Given the description of an element on the screen output the (x, y) to click on. 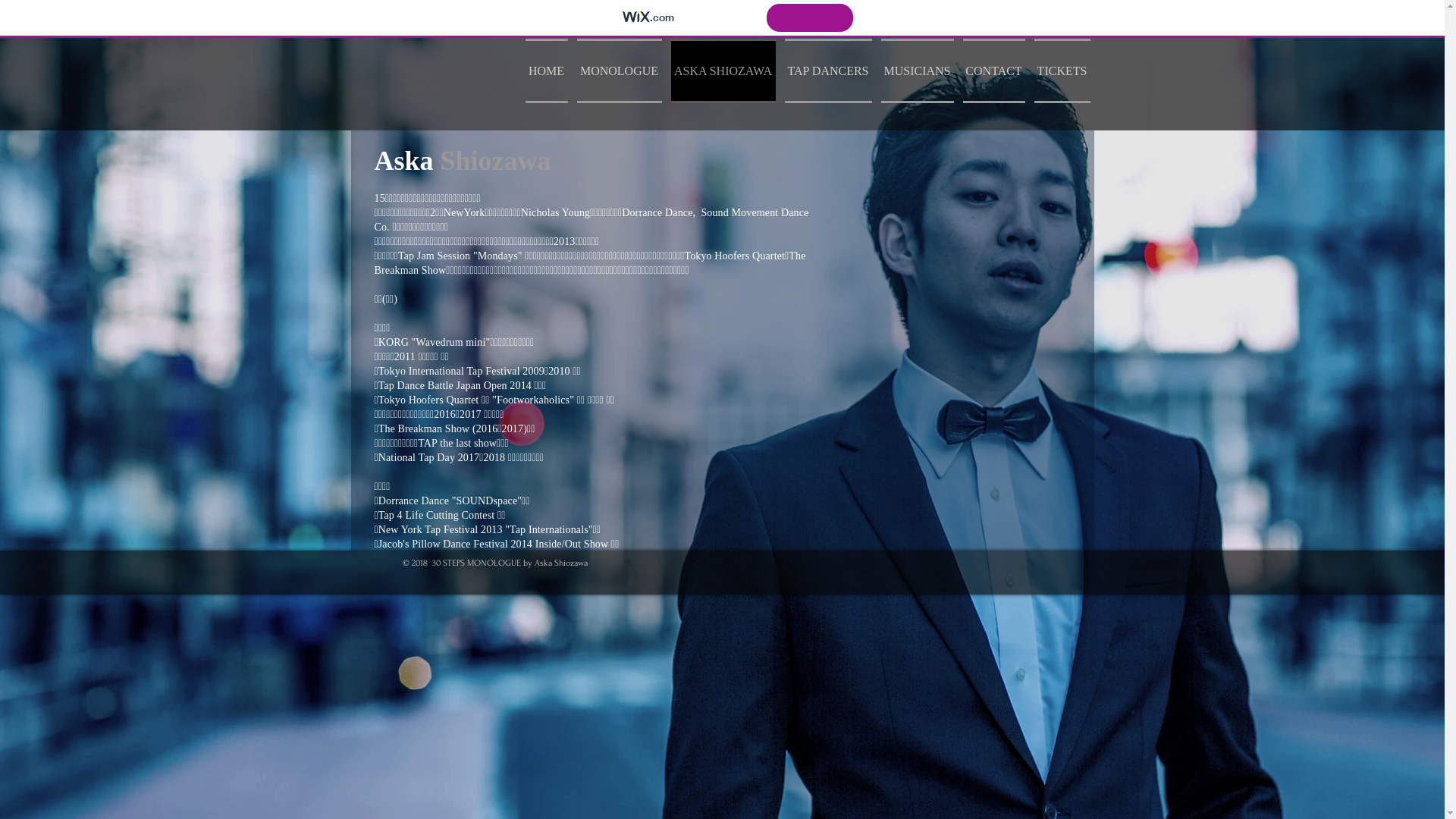
TICKETS Element type: text (1059, 70)
CONTACT Element type: text (993, 70)
ASKA SHIOZAWA Element type: text (722, 70)
TAP DANCERS Element type: text (827, 70)
MONOLOGUE Element type: text (618, 70)
MUSICIANS Element type: text (917, 70)
HOME Element type: text (547, 70)
